Given the description of an element on the screen output the (x, y) to click on. 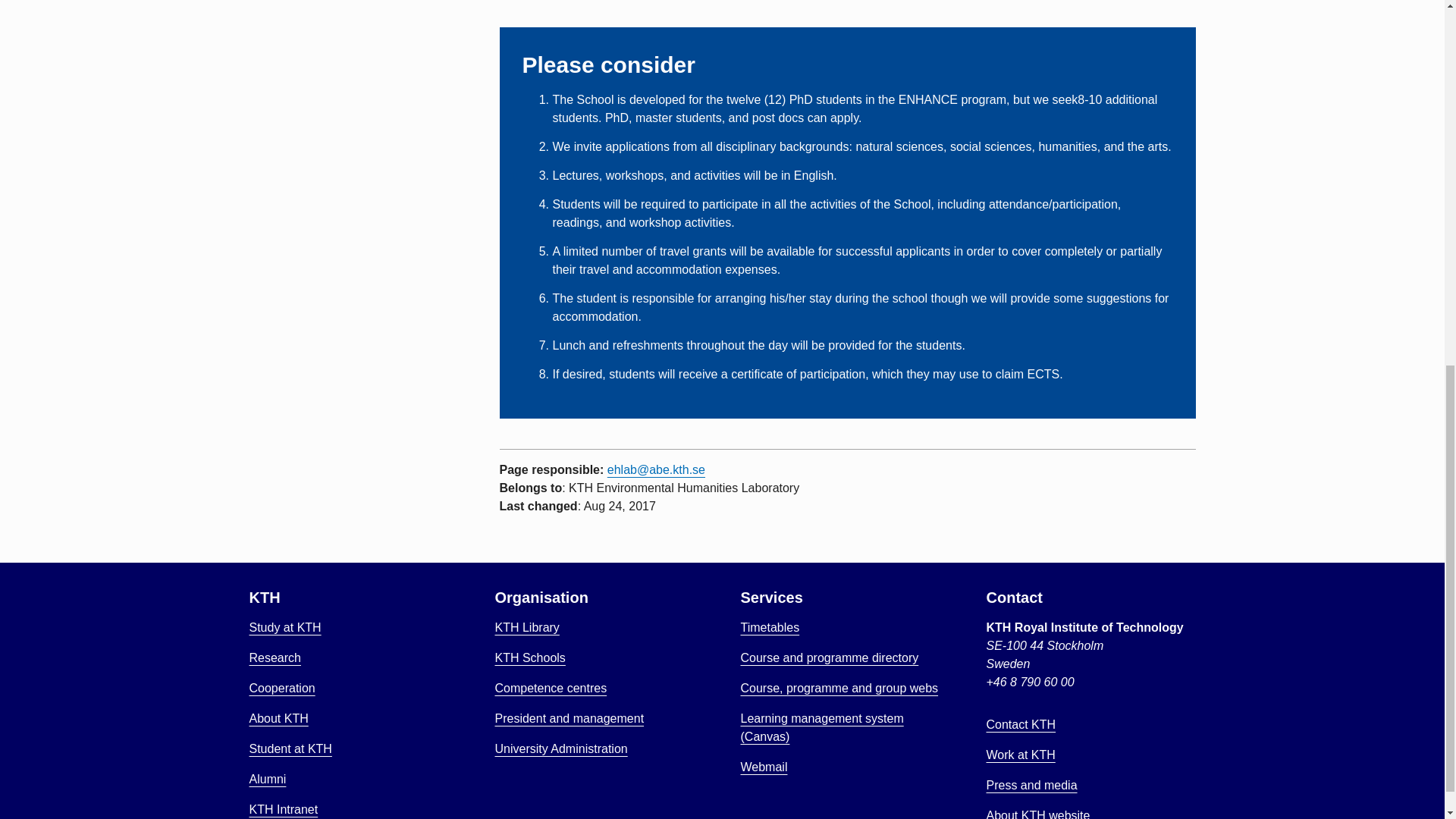
Edit this page (505, 522)
